Given the description of an element on the screen output the (x, y) to click on. 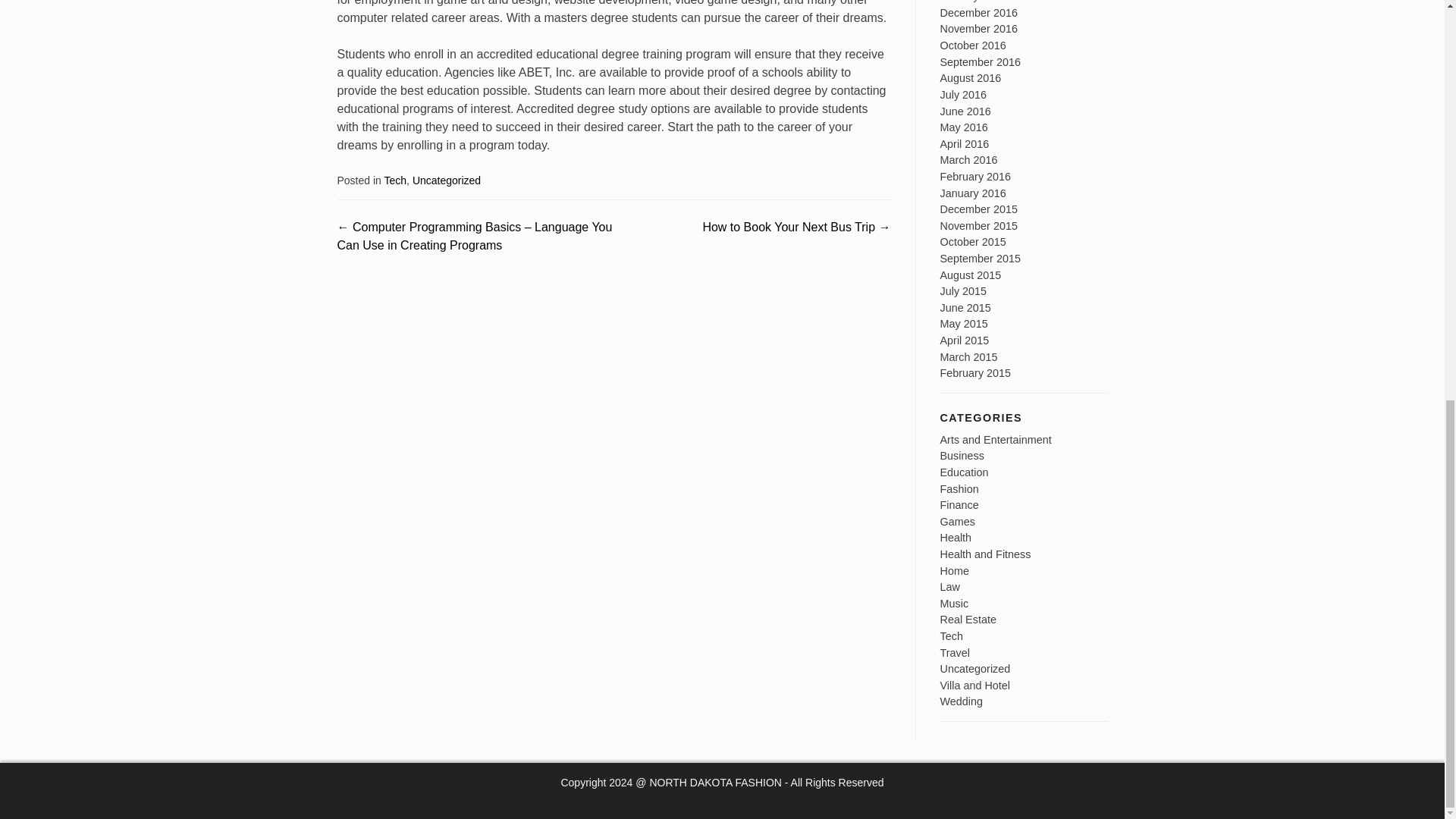
Tech (395, 180)
Uncategorized (446, 180)
NORTH DAKOTA FASHION (715, 782)
